Given the description of an element on the screen output the (x, y) to click on. 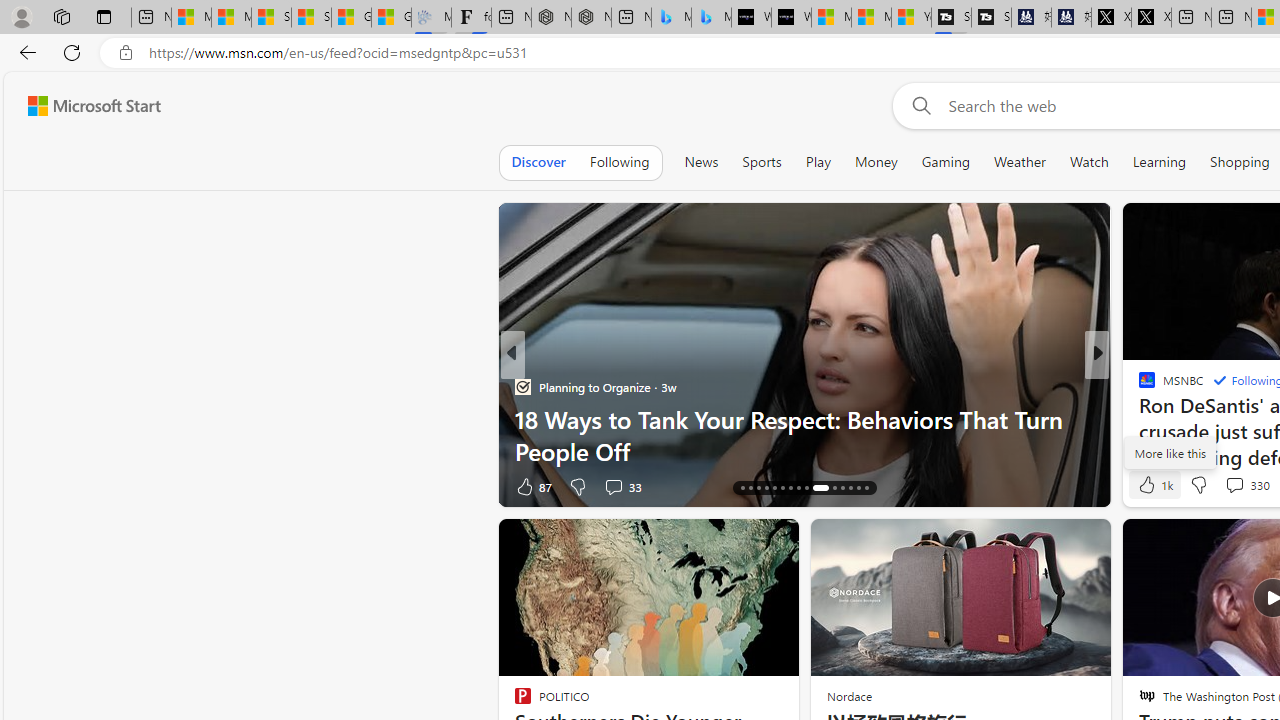
MUO (1138, 386)
AutomationID: tab-26 (833, 487)
View comments 96 Comment (1244, 486)
Planning to Organize (522, 386)
ABC News (1138, 386)
AutomationID: tab-17 (750, 487)
